Given the description of an element on the screen output the (x, y) to click on. 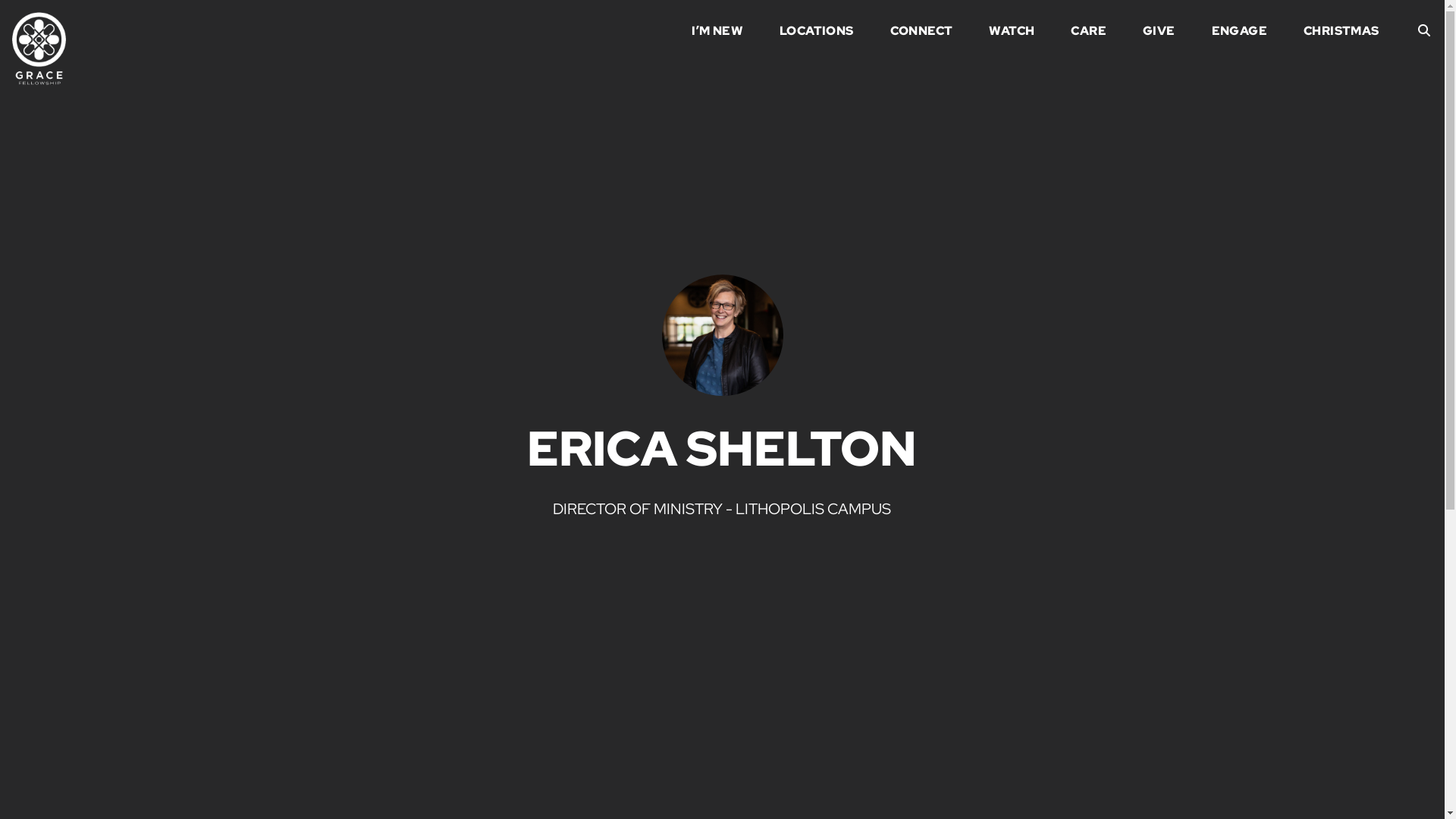
GIVE Element type: text (1158, 33)
CARE Element type: text (1088, 33)
ENGAGE Element type: text (1239, 33)
CONNECT Element type: text (921, 33)
CHRISTMAS Element type: text (1341, 33)
WATCH Element type: text (1011, 33)
LOCATIONS Element type: text (816, 33)
